Given the description of an element on the screen output the (x, y) to click on. 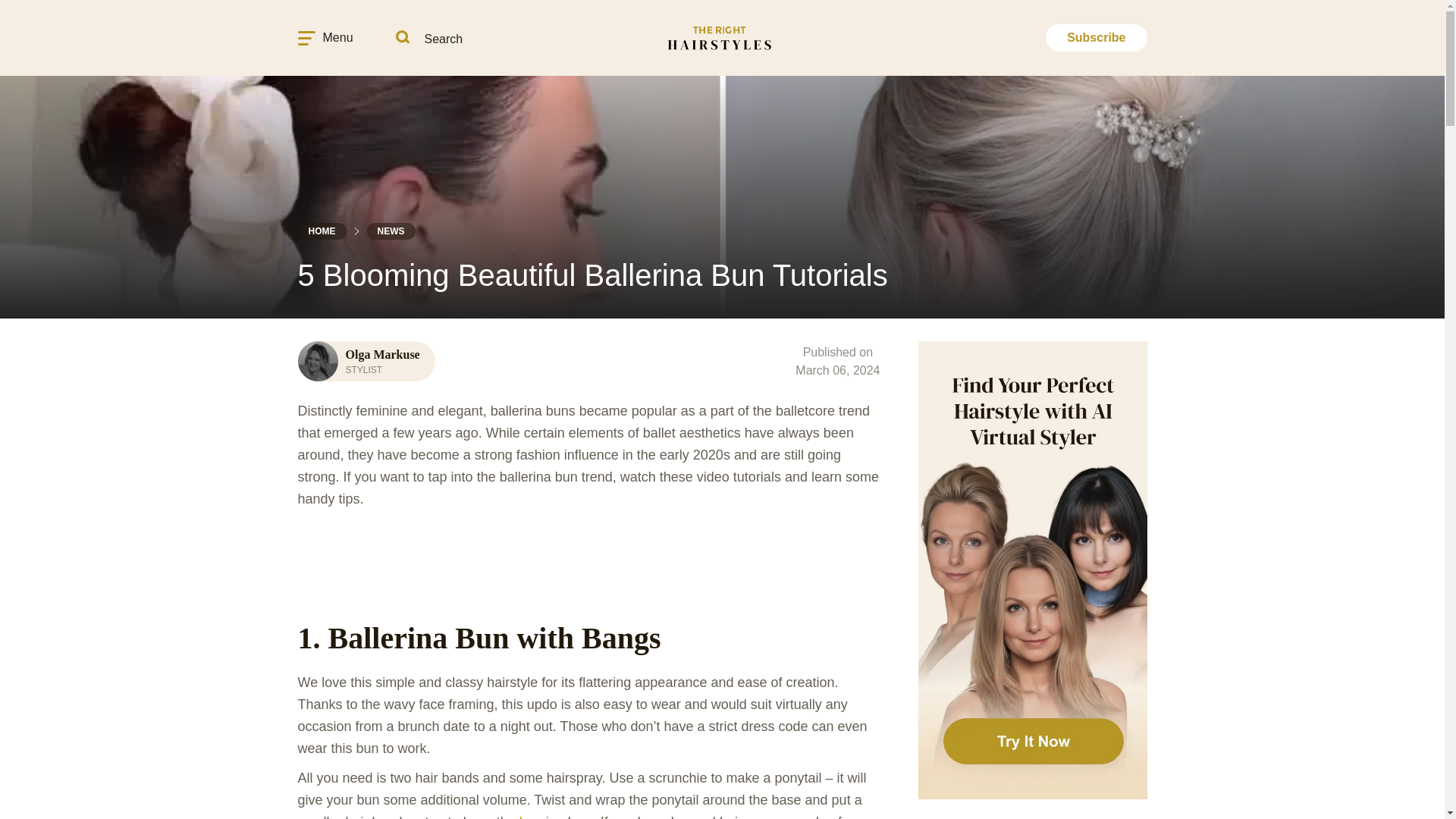
bun (530, 816)
HOME (321, 230)
Subscribe (1096, 37)
NEWS (390, 230)
